Given the description of an element on the screen output the (x, y) to click on. 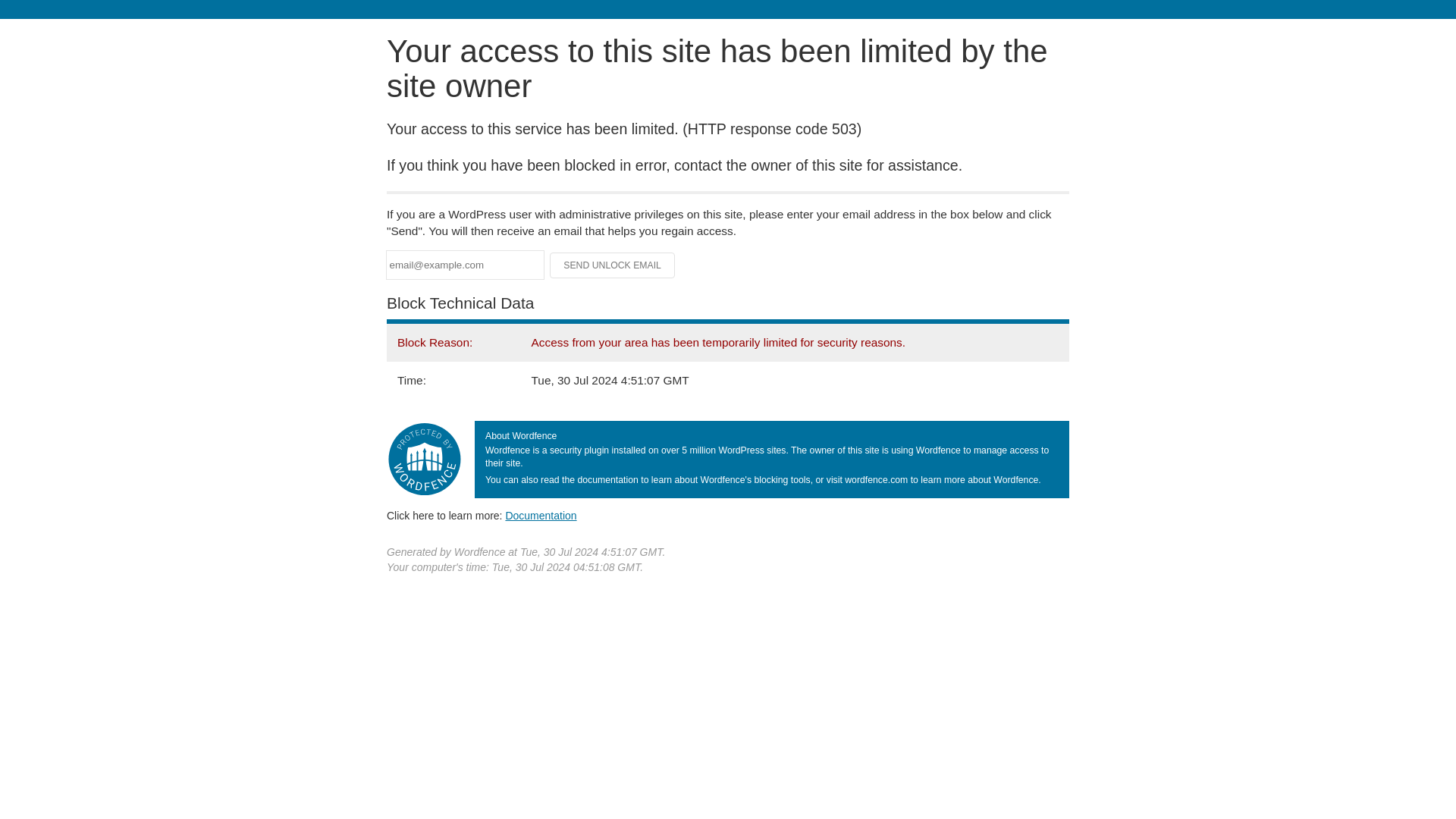
Send Unlock Email (612, 265)
Documentation (540, 515)
Send Unlock Email (612, 265)
